Given the description of an element on the screen output the (x, y) to click on. 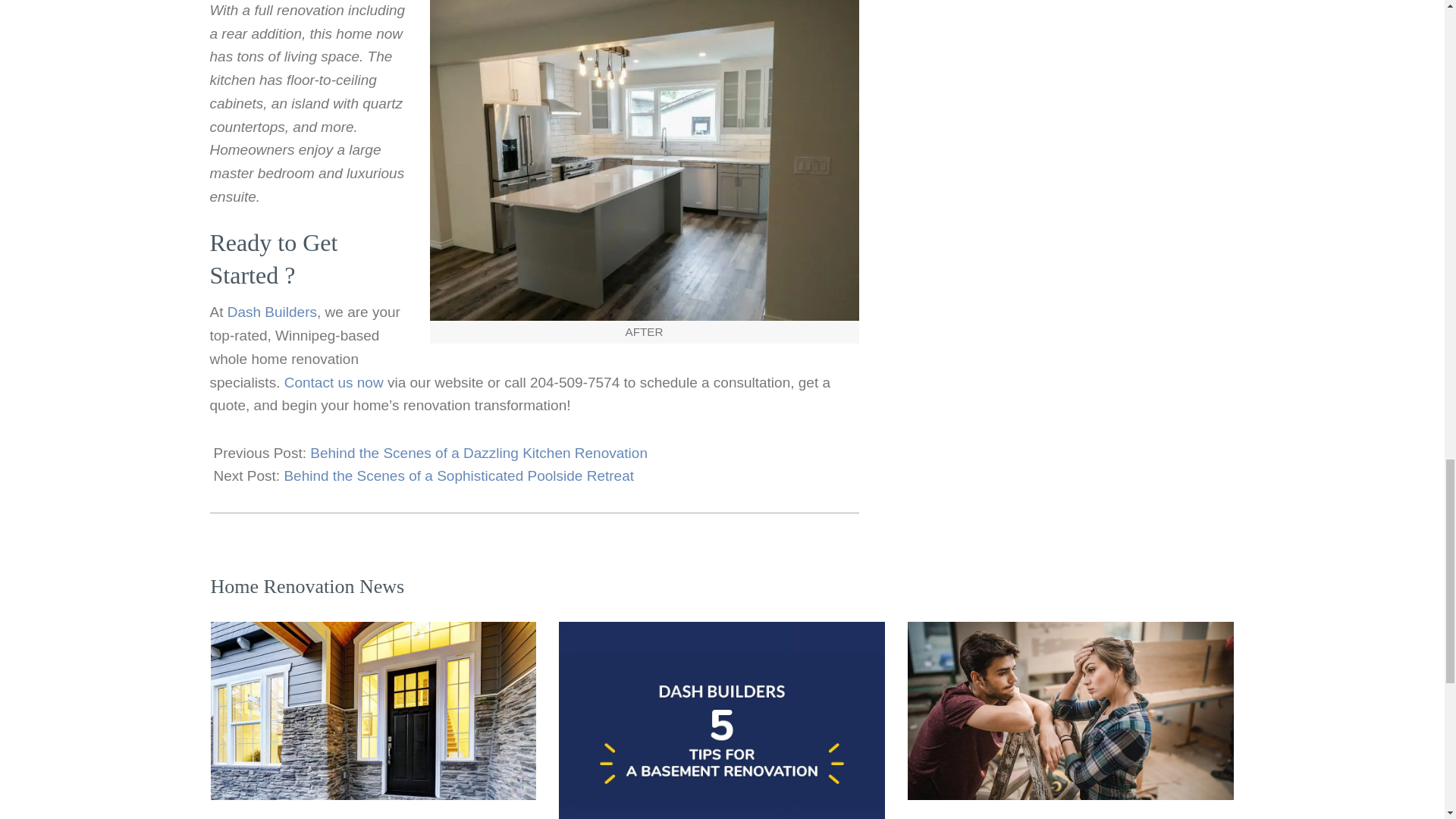
Dash Builders (272, 311)
Contact us now (333, 382)
Behind the Scenes of a Dazzling Kitchen Renovation (478, 453)
Behind the Scenes of a Sophisticated Poolside Retreat (458, 475)
